Given the description of an element on the screen output the (x, y) to click on. 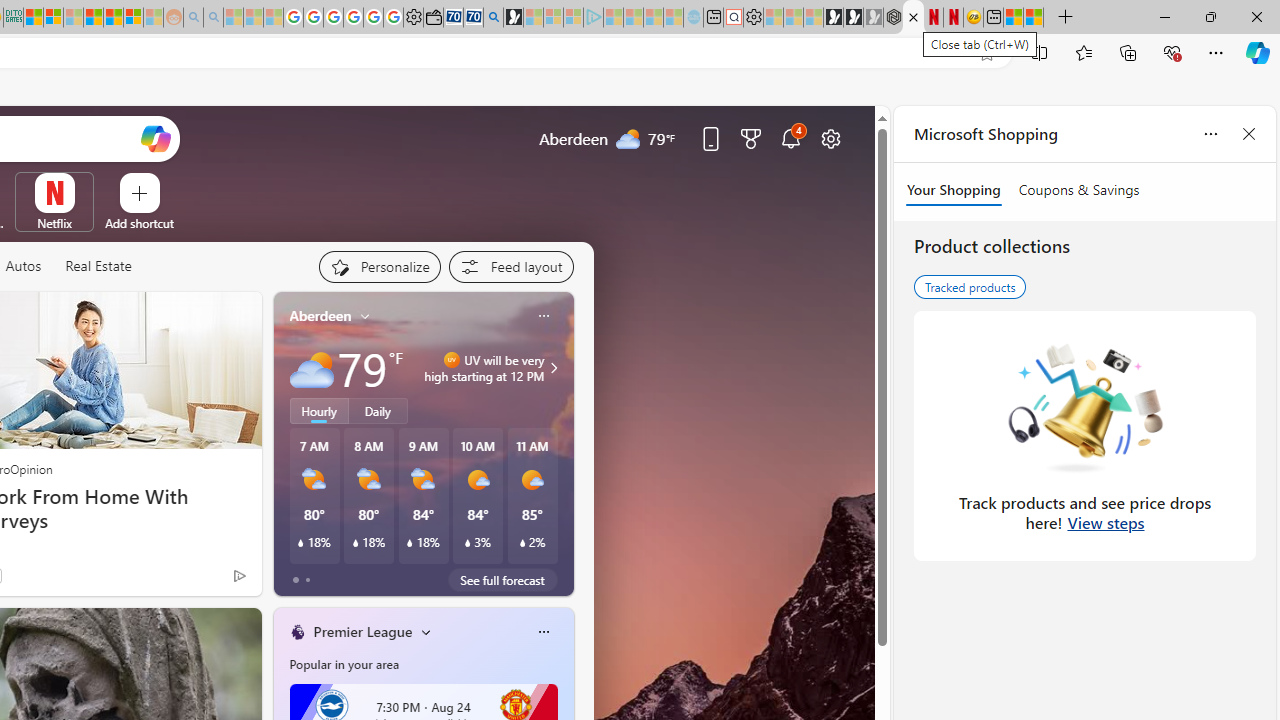
See full forecast (502, 579)
Mostly cloudy (311, 368)
Expert Portfolios (93, 17)
Mostly cloudy (311, 368)
UV will be very high starting at 12 PM (551, 367)
Add a site (139, 223)
